Given the description of an element on the screen output the (x, y) to click on. 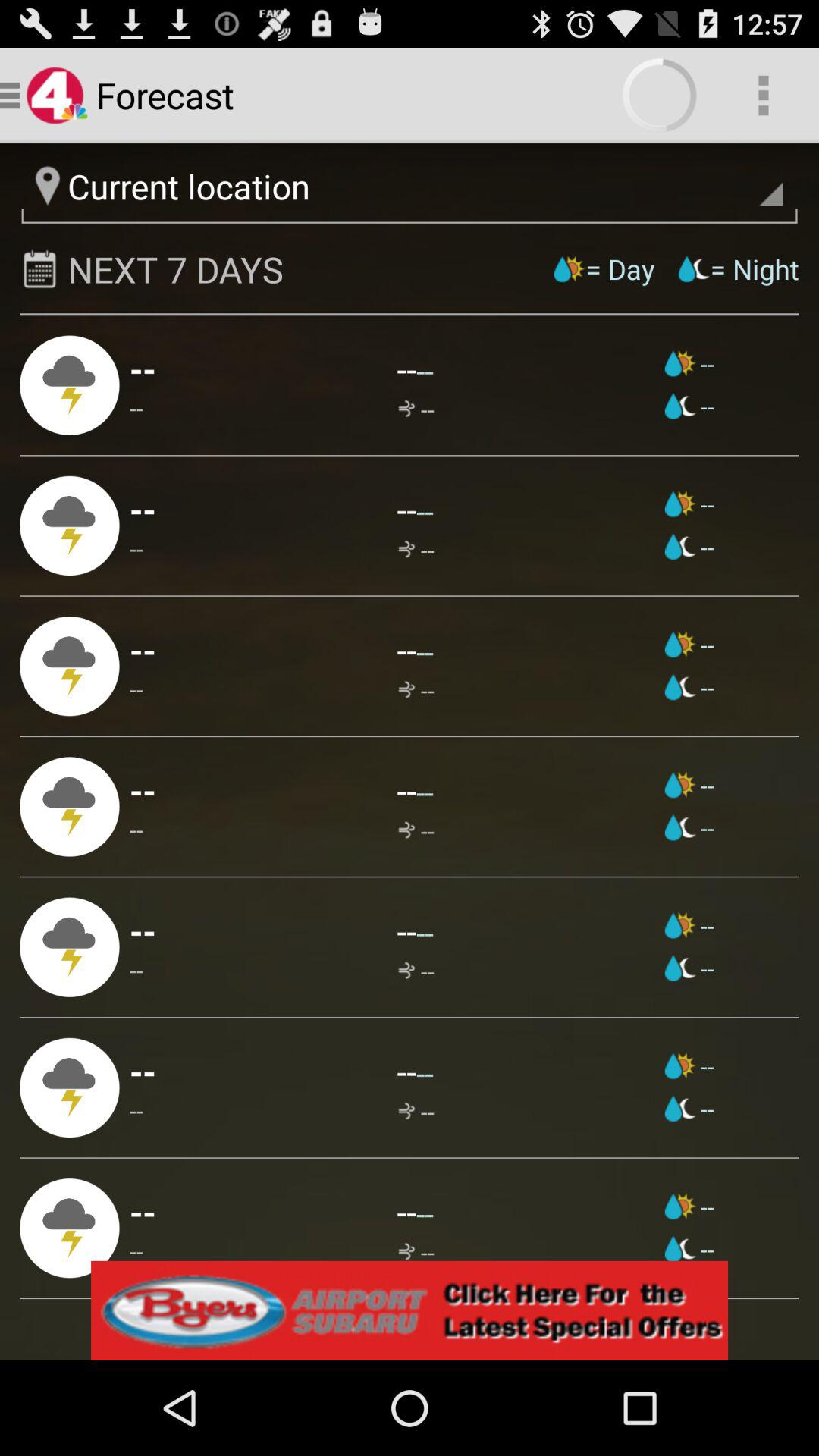
choose the item below the -- app (689, 925)
